Given the description of an element on the screen output the (x, y) to click on. 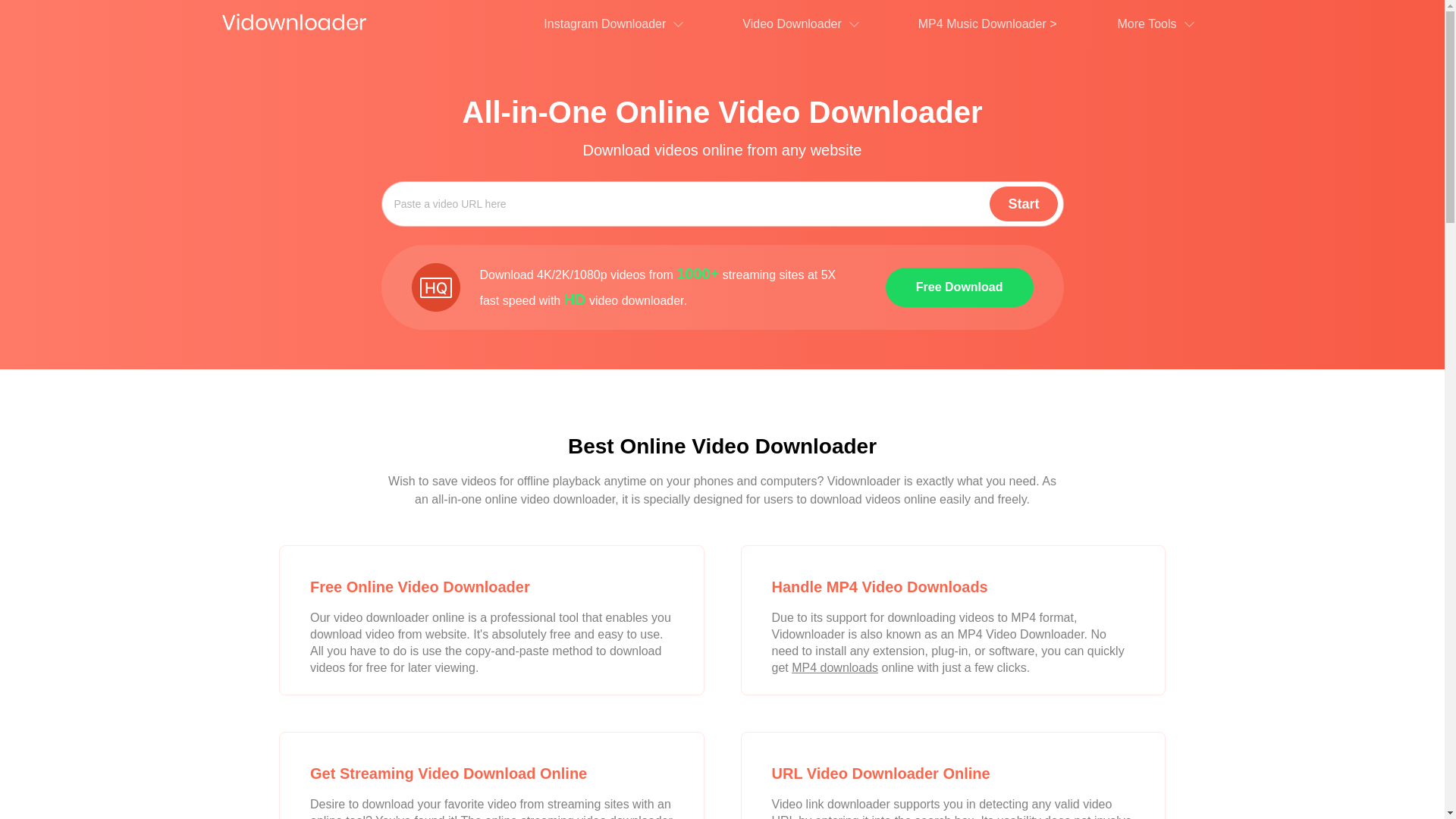
More Tools Element type: text (1154, 26)
MP4 downloads Element type: text (834, 667)
Instagram Downloader Element type: text (612, 26)
Video Downloader Element type: text (799, 26)
Free Download Element type: text (959, 287)
MP4 Music Downloader > Element type: text (987, 23)
